Given the description of an element on the screen output the (x, y) to click on. 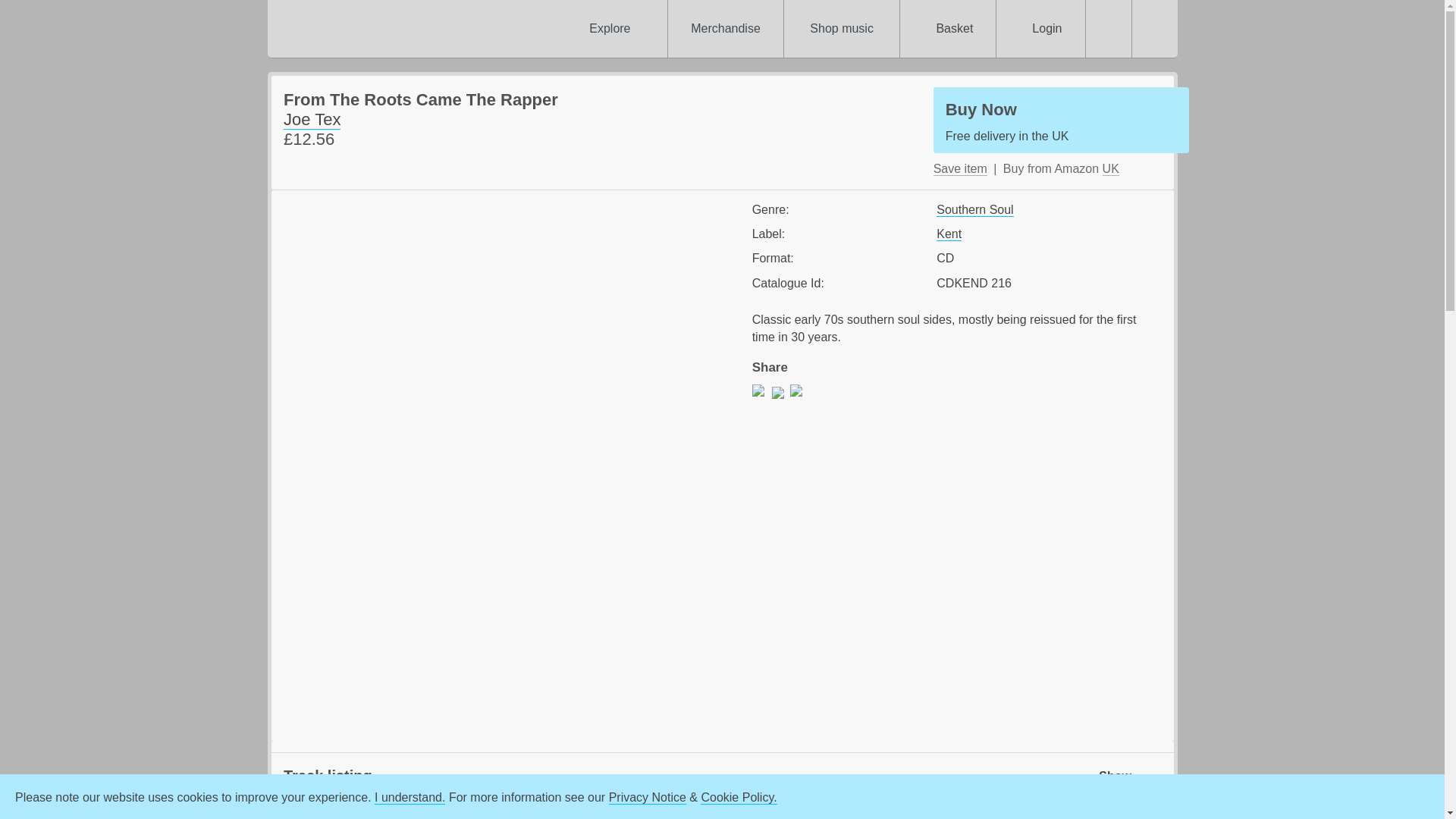
Merchandise (725, 28)
Explore (609, 28)
Shop music (841, 28)
Ace Records (388, 28)
UK (1110, 169)
Kent (948, 233)
Southern Soul (974, 210)
Save item (1061, 119)
Basket (960, 169)
